Given the description of an element on the screen output the (x, y) to click on. 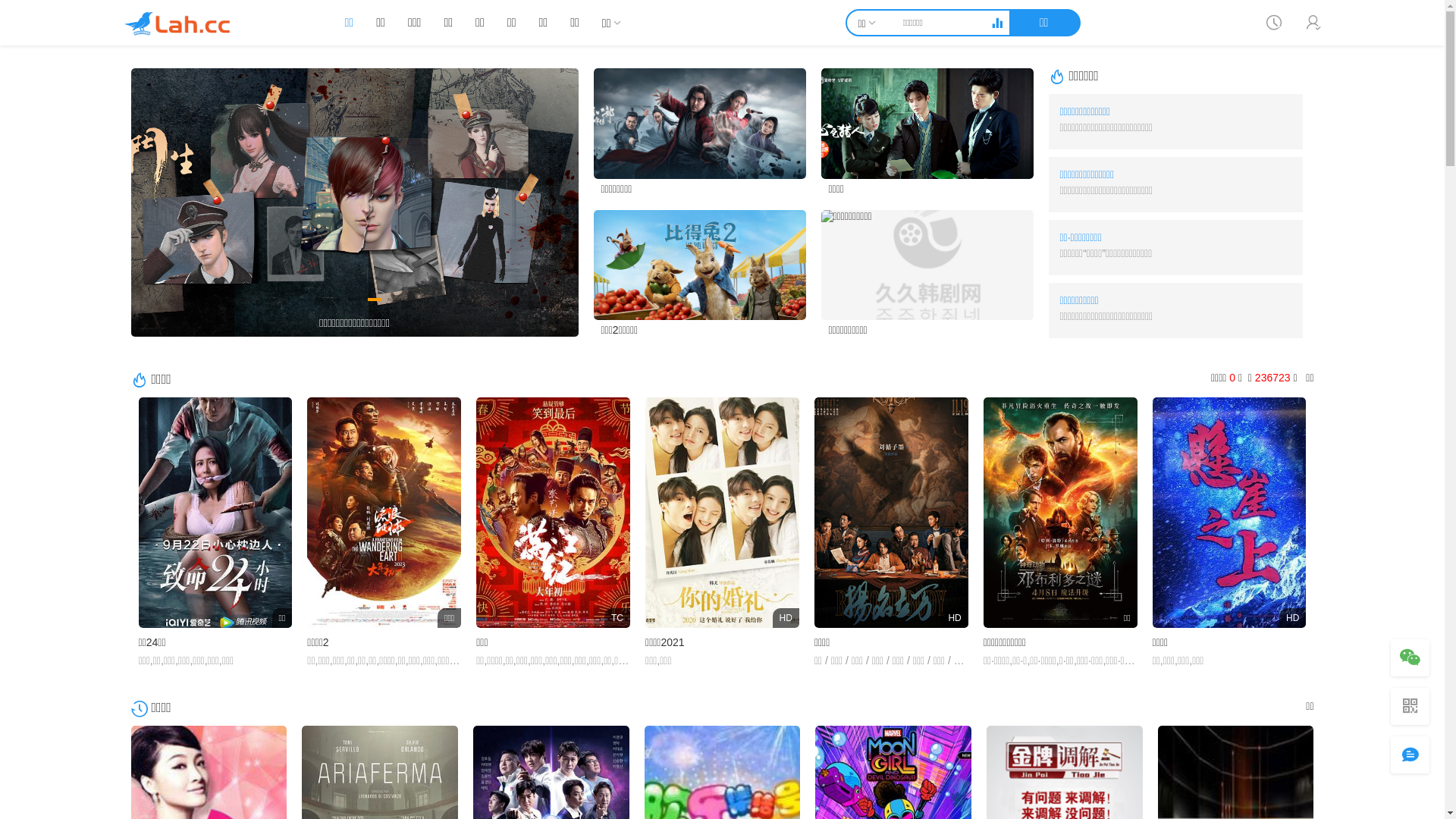
TC Element type: text (553, 512)
HD Element type: text (891, 512)
HD Element type: text (1229, 512)
HD Element type: text (722, 512)
0 Element type: text (17, 18)
